Given the description of an element on the screen output the (x, y) to click on. 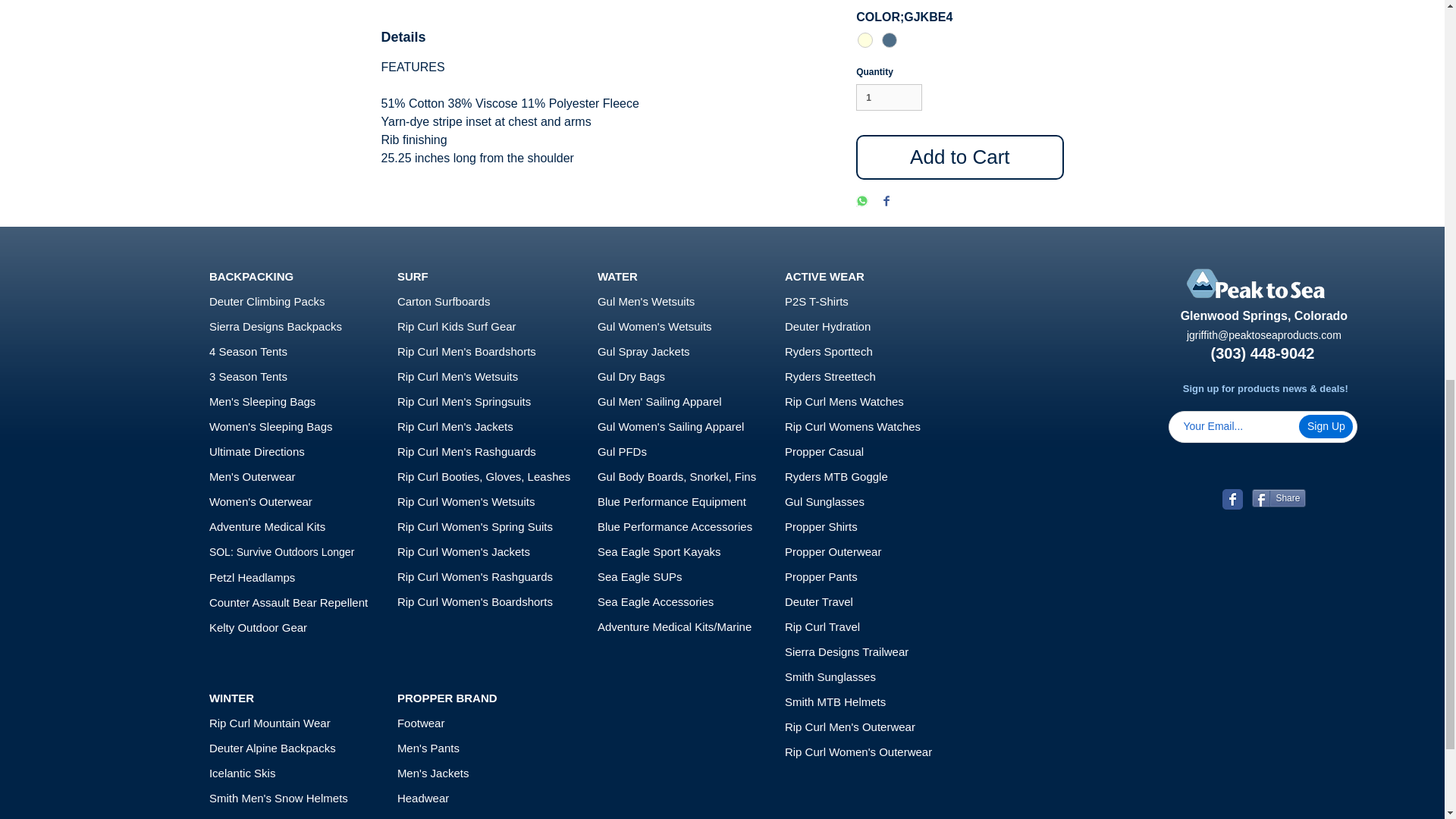
Share (1279, 497)
1 (888, 97)
